Given the description of an element on the screen output the (x, y) to click on. 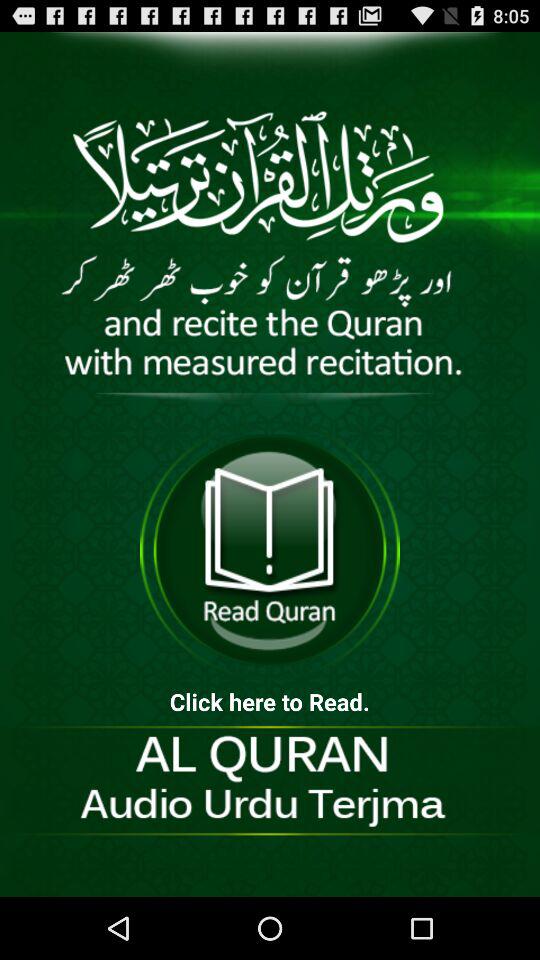
read quran (270, 550)
